Given the description of an element on the screen output the (x, y) to click on. 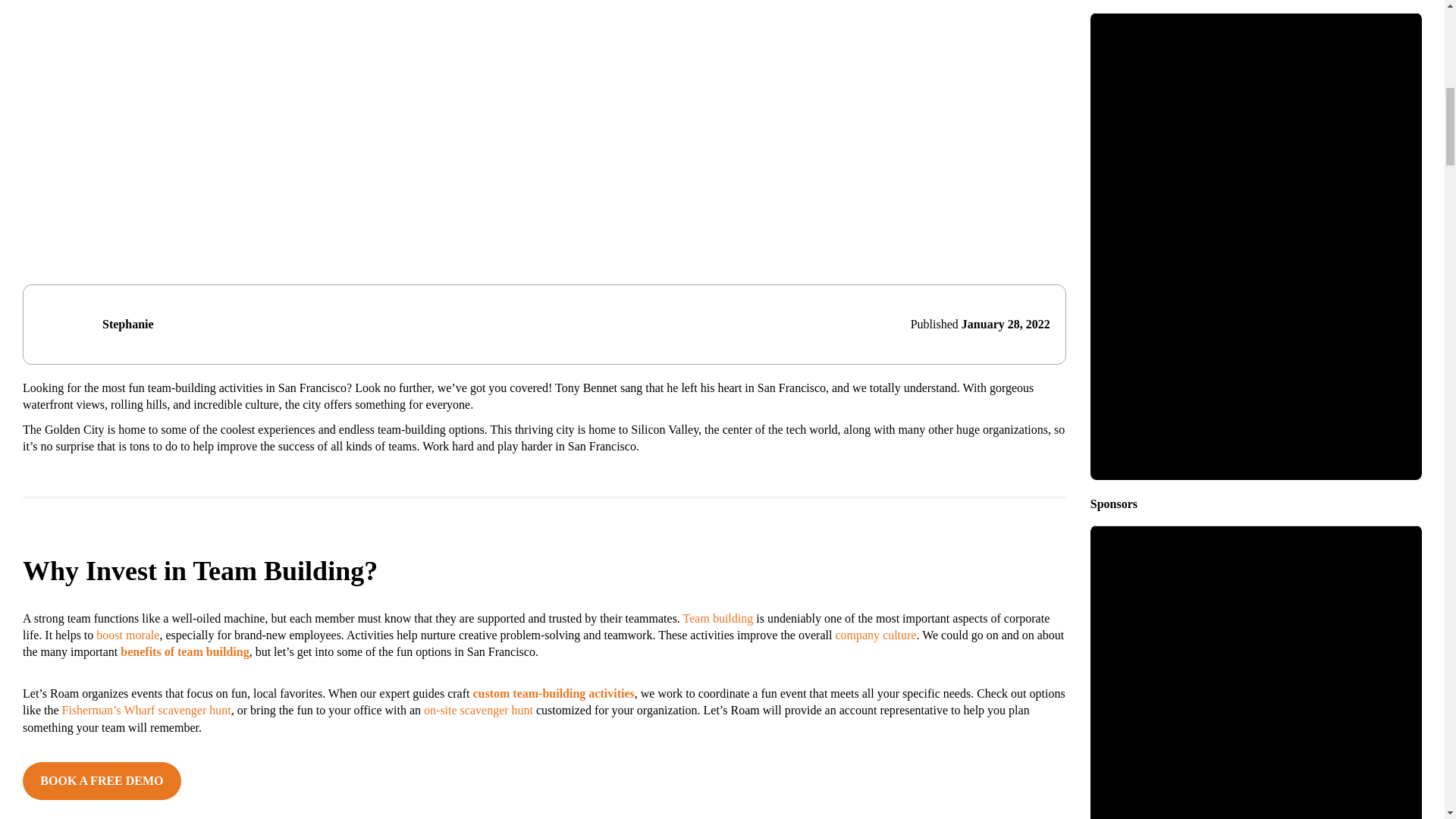
BOOK A FREE DEMO (101, 780)
custom team-building activities (552, 693)
Team building (718, 617)
on-site scavenger hunt (477, 709)
benefits of team building (184, 651)
boost morale (127, 634)
company culture (874, 634)
